Given the description of an element on the screen output the (x, y) to click on. 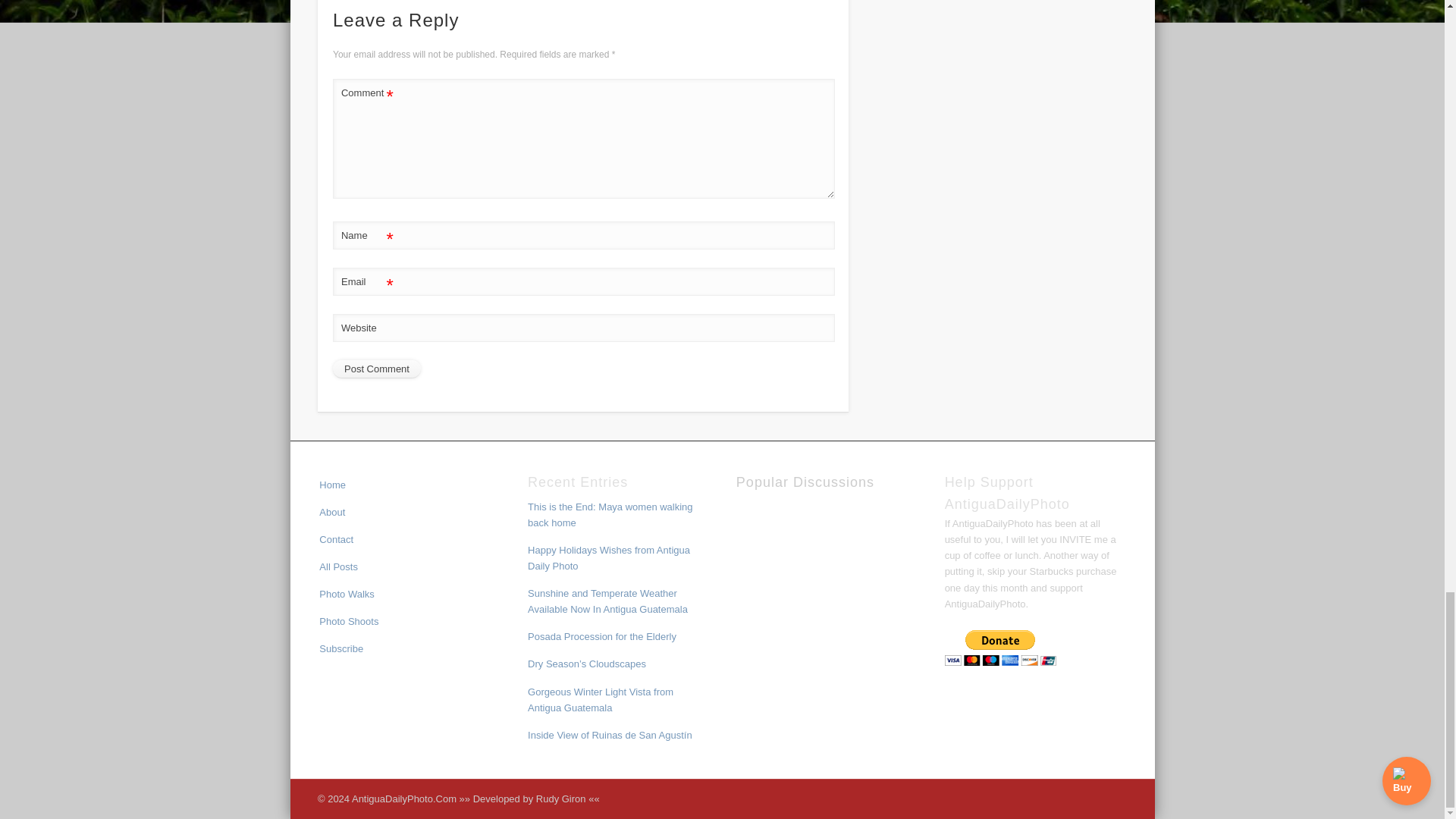
Post Comment (376, 369)
